Given the description of an element on the screen output the (x, y) to click on. 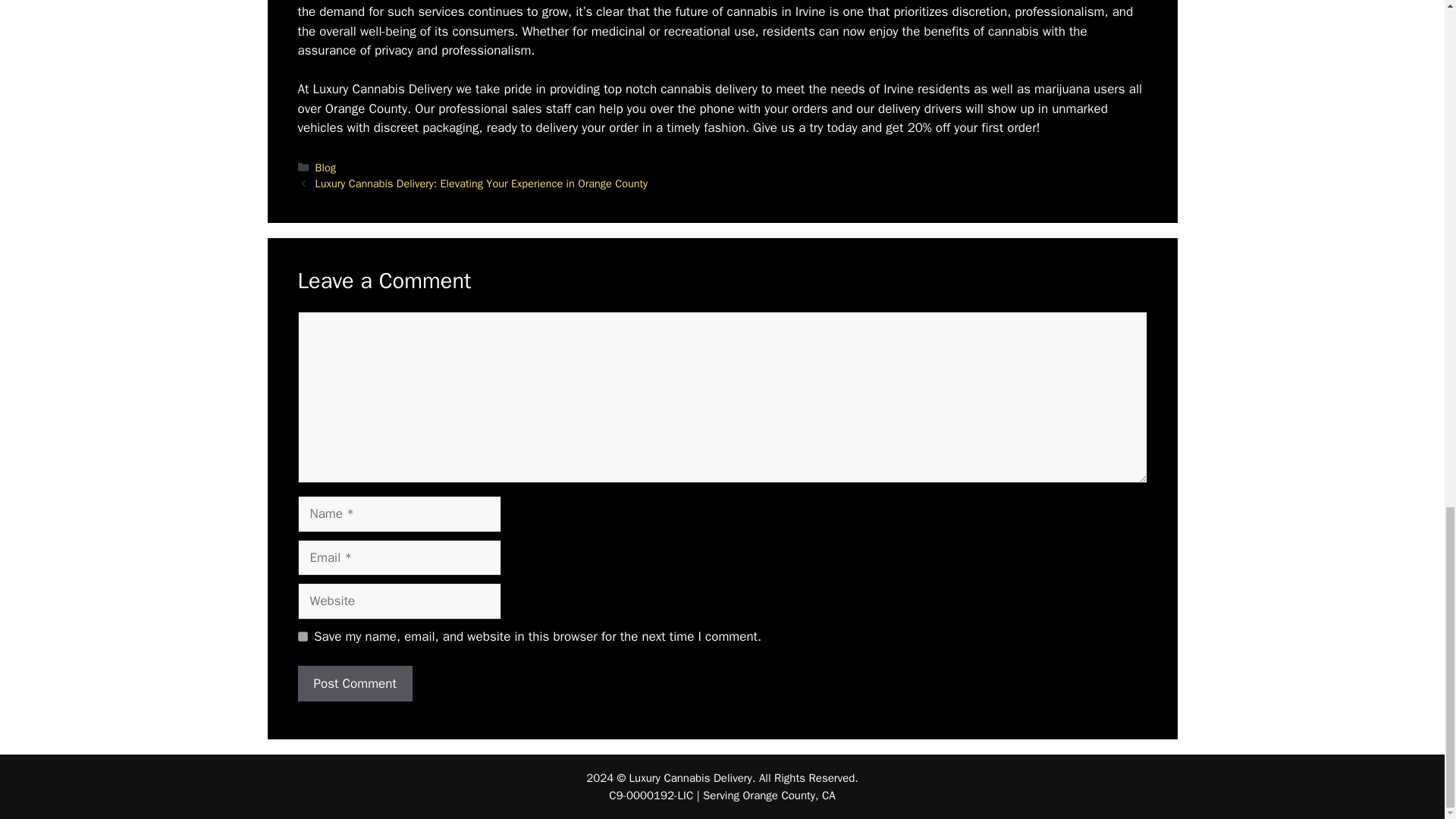
Blog (325, 167)
yes (302, 636)
Scroll back to top (1406, 186)
Post Comment (354, 683)
Post Comment (354, 683)
